Given the description of an element on the screen output the (x, y) to click on. 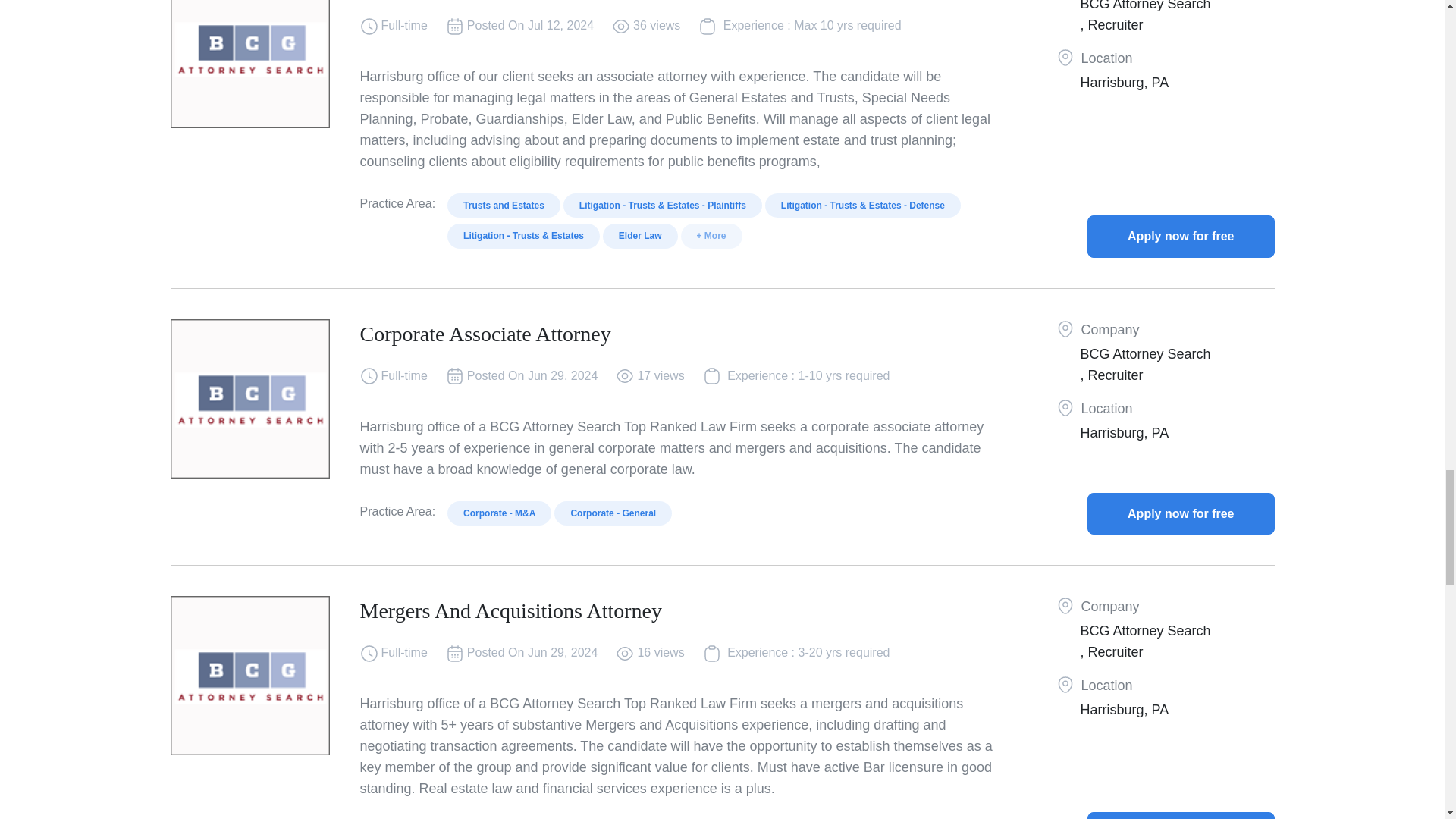
Associate Attorney needed for Harrisburg office (1180, 236)
Mergers And Acquisitions Attorney (1180, 815)
Corporate Associate Attorney (1180, 513)
